Given the description of an element on the screen output the (x, y) to click on. 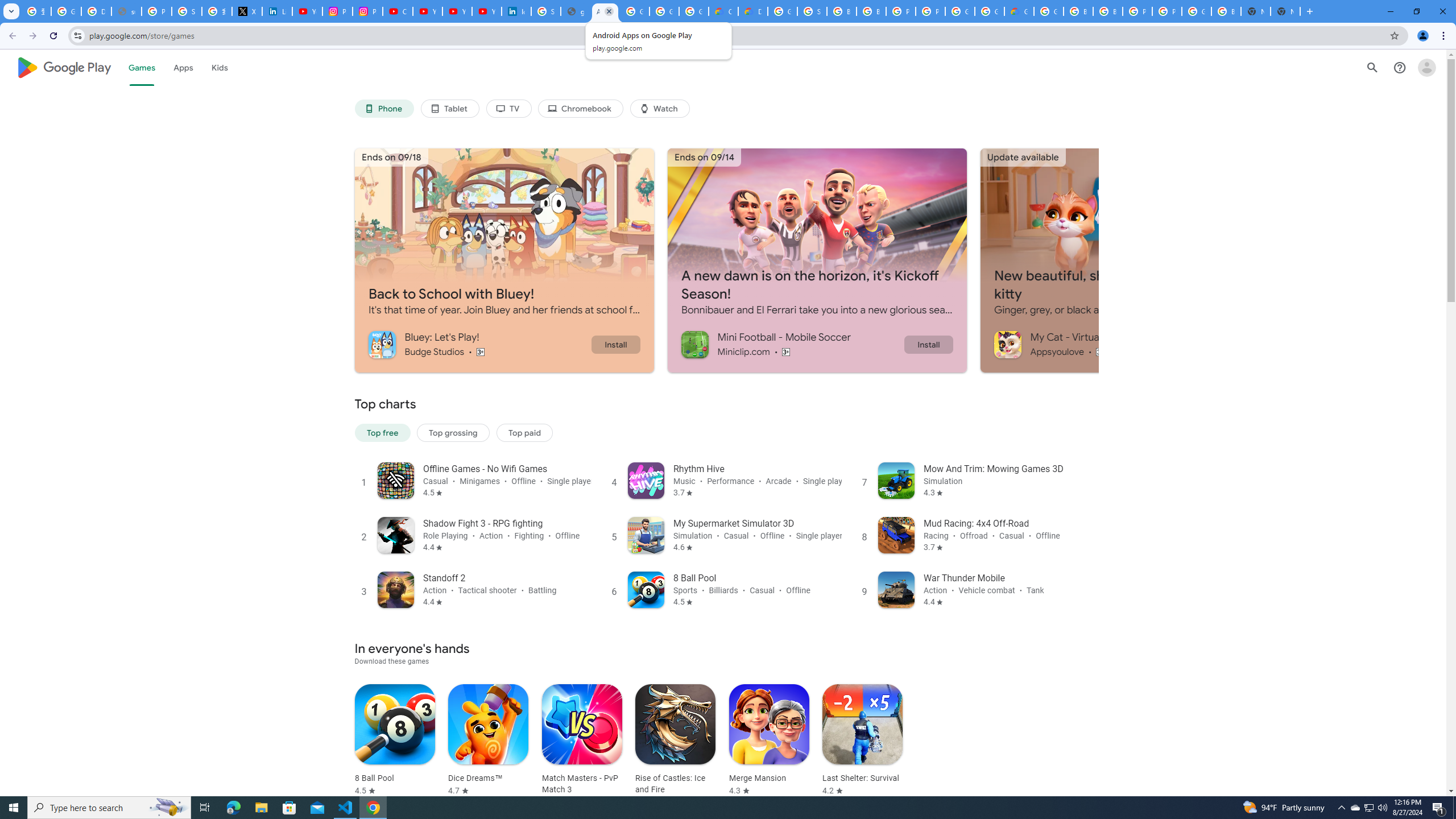
Google Cloud Platform (1048, 11)
LinkedIn Privacy Policy (277, 11)
Google Play logo (64, 67)
YouTube Culture & Trends - YouTube Top 10, 2021 (456, 11)
support.google.com - Network error (126, 11)
Apps (182, 67)
Google Workspace - Specific Terms (664, 11)
google_privacy_policy_en.pdf (575, 11)
X (247, 11)
